Given the description of an element on the screen output the (x, y) to click on. 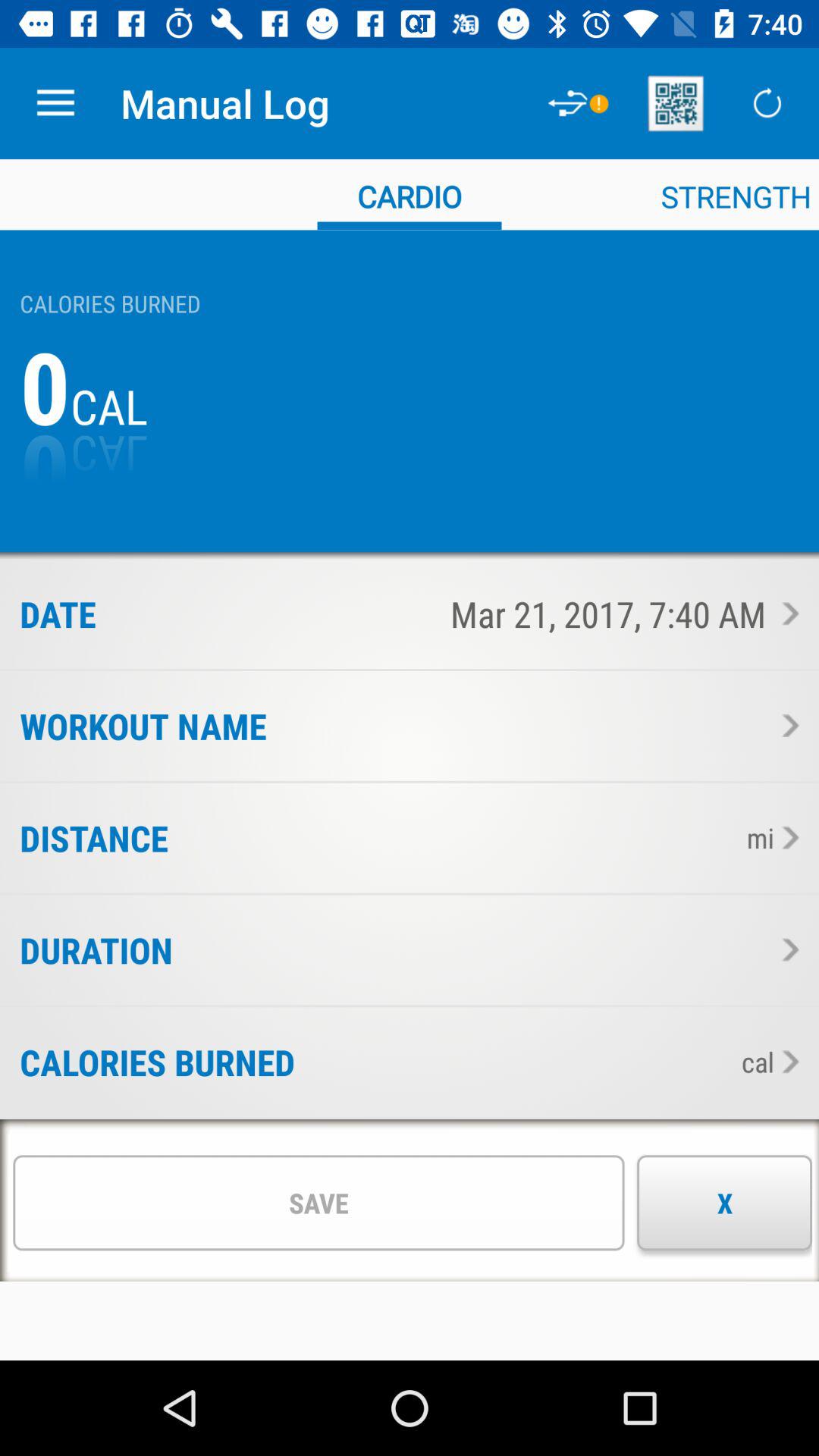
flip until the save (318, 1202)
